Given the description of an element on the screen output the (x, y) to click on. 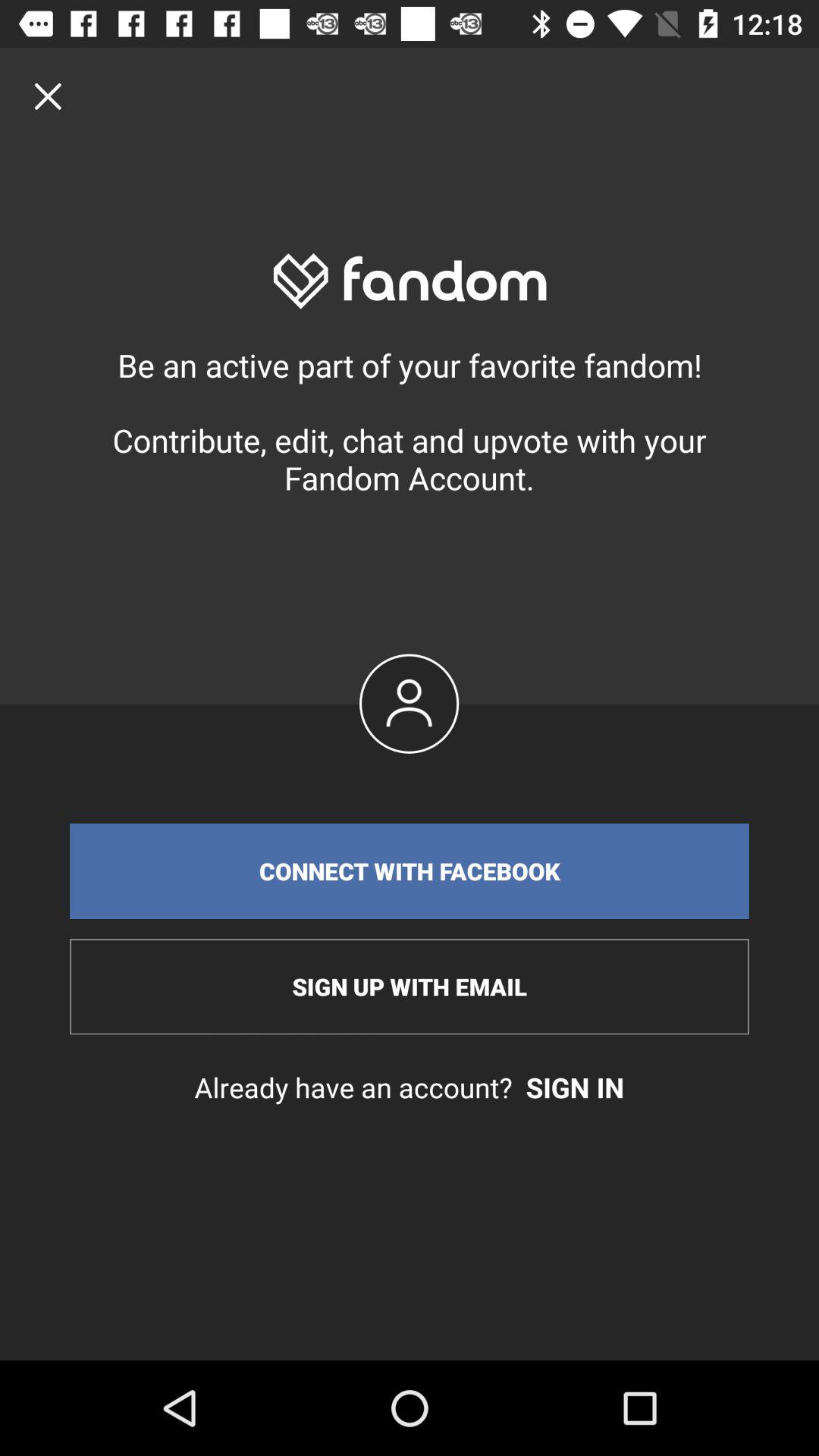
close window (47, 95)
